Given the description of an element on the screen output the (x, y) to click on. 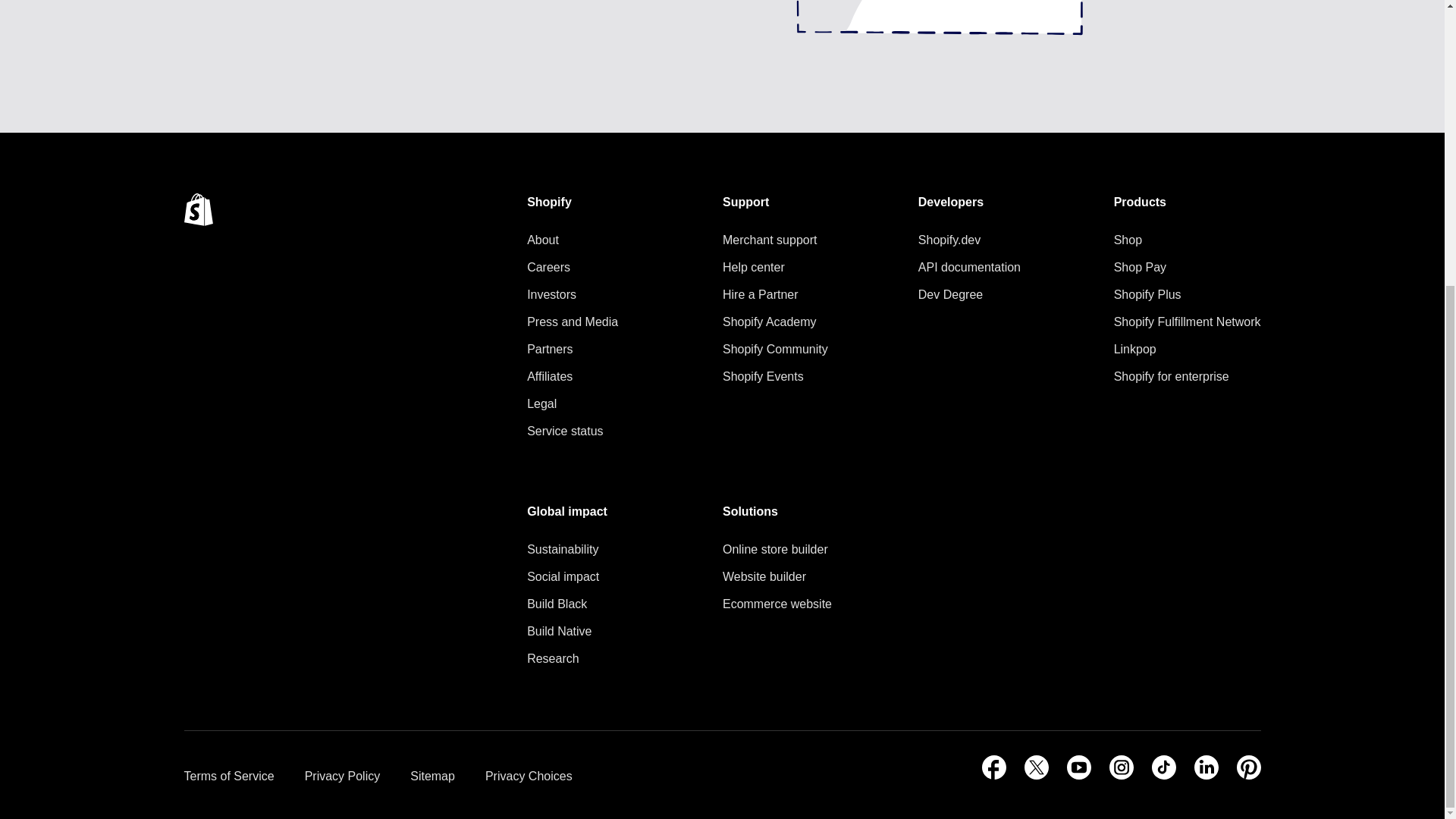
Partners (572, 349)
Shopify Community (775, 349)
Shopify.dev (969, 240)
Sustainability (567, 549)
Dev Degree (969, 294)
Social impact (567, 577)
Affiliates (572, 376)
Help center (775, 267)
Build Black (567, 604)
Shopify for enterprise (1186, 376)
